Given the description of an element on the screen output the (x, y) to click on. 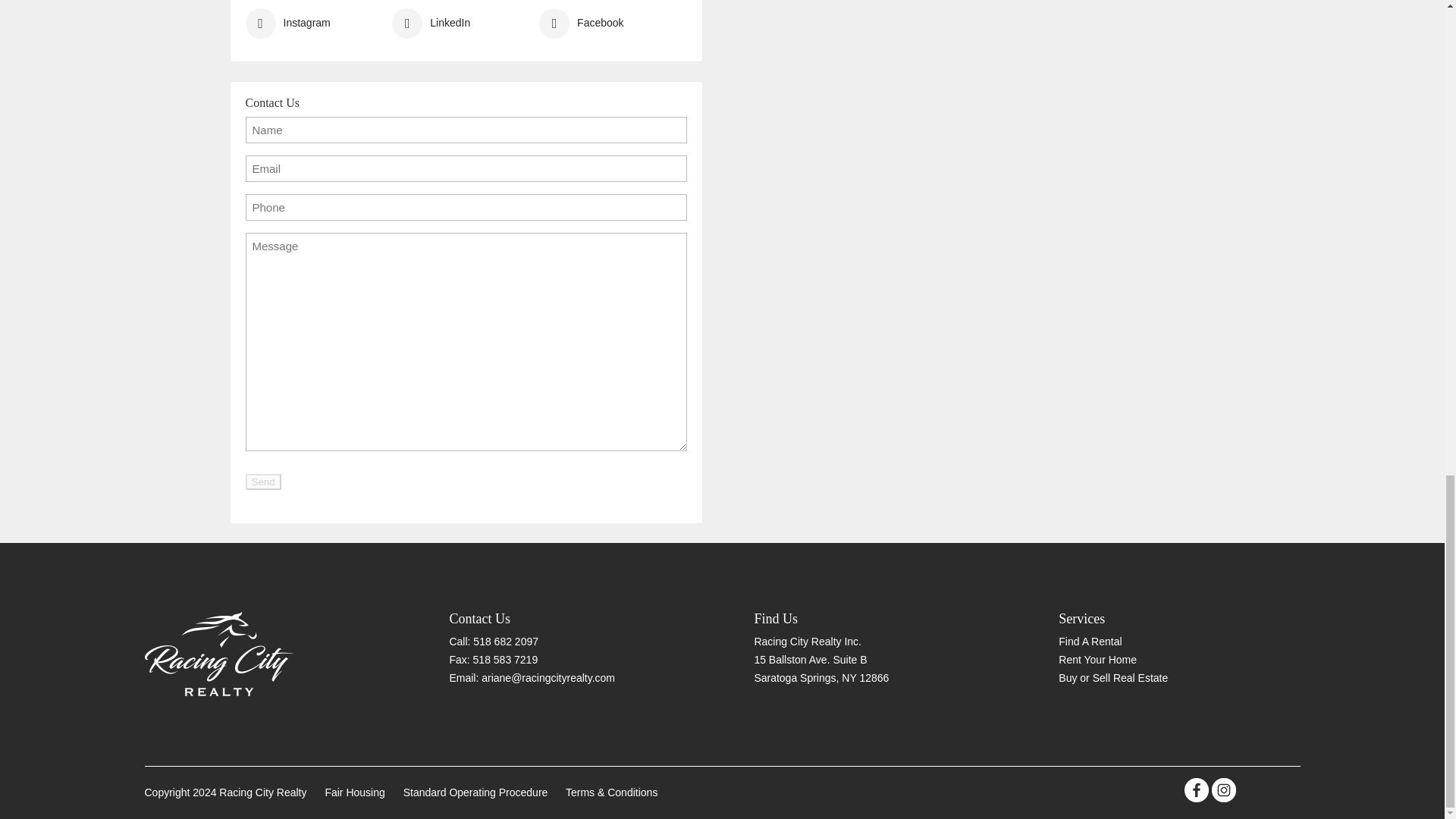
Instagram (288, 23)
Send (263, 480)
Send (263, 480)
LinkedIn (430, 23)
Facebook (580, 23)
